Given the description of an element on the screen output the (x, y) to click on. 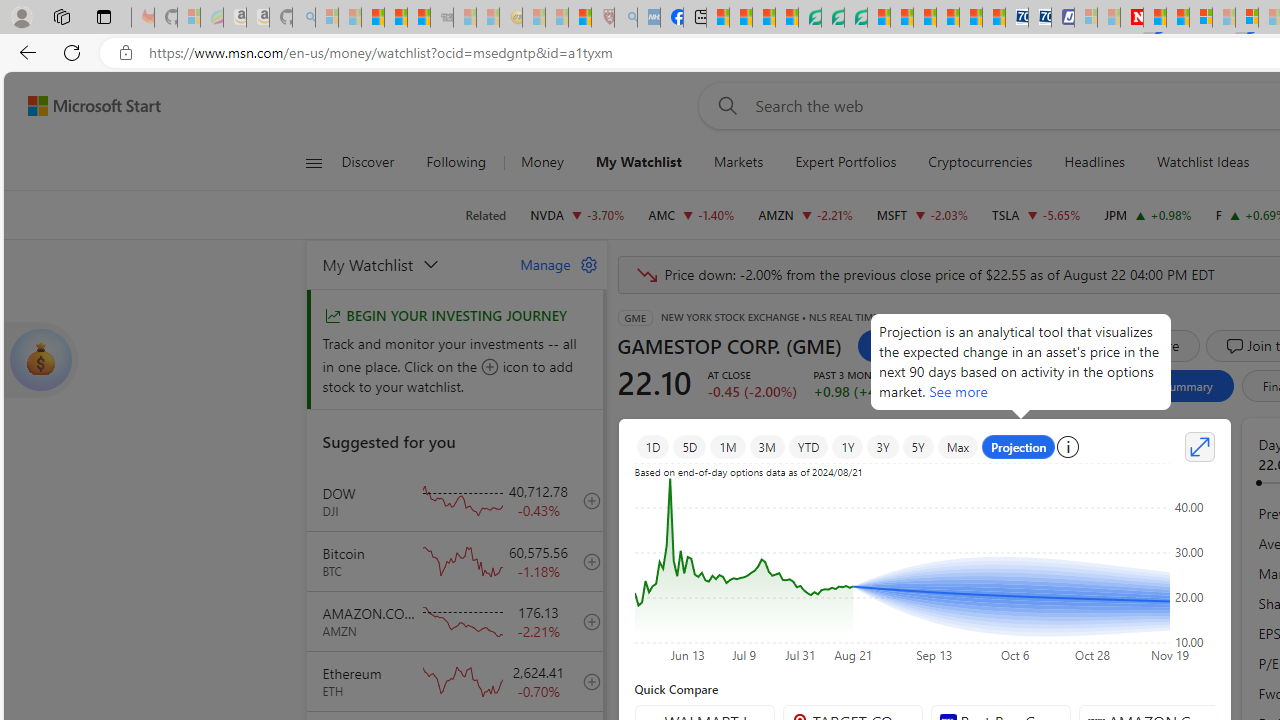
My Watchlist (638, 162)
show card (40, 359)
Manage (551, 264)
Combat Siege (442, 17)
NVDA NVIDIA CORPORATION decrease 123.74 -4.76 -3.70% (577, 214)
Trusted Community Engagement and Contributions | Guidelines (1155, 17)
share dialog (1025, 345)
14 Common Myths Debunked By Scientific Facts (1178, 17)
